Given the description of an element on the screen output the (x, y) to click on. 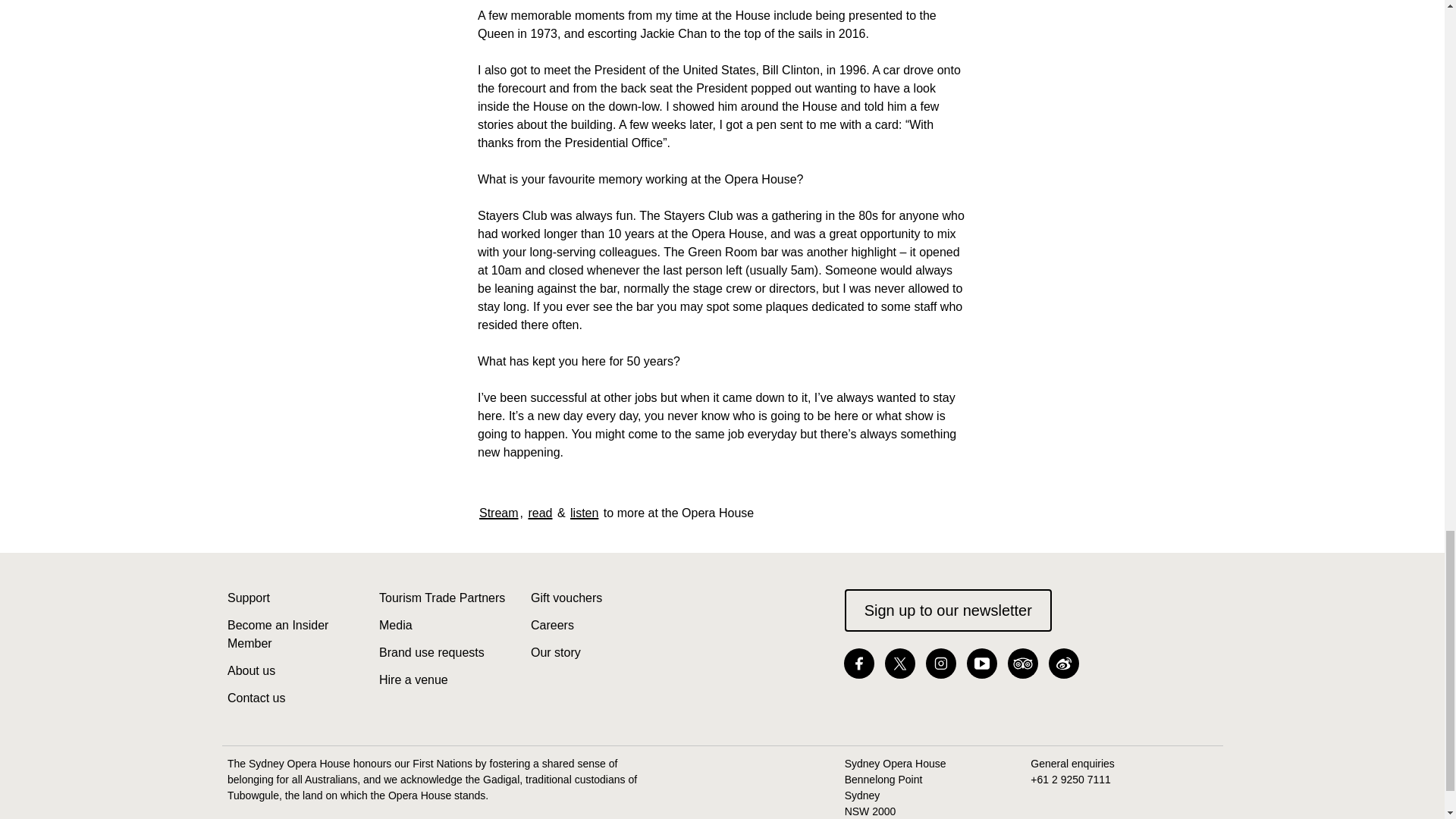
Our story (555, 652)
Careers (552, 625)
